Given the description of an element on the screen output the (x, y) to click on. 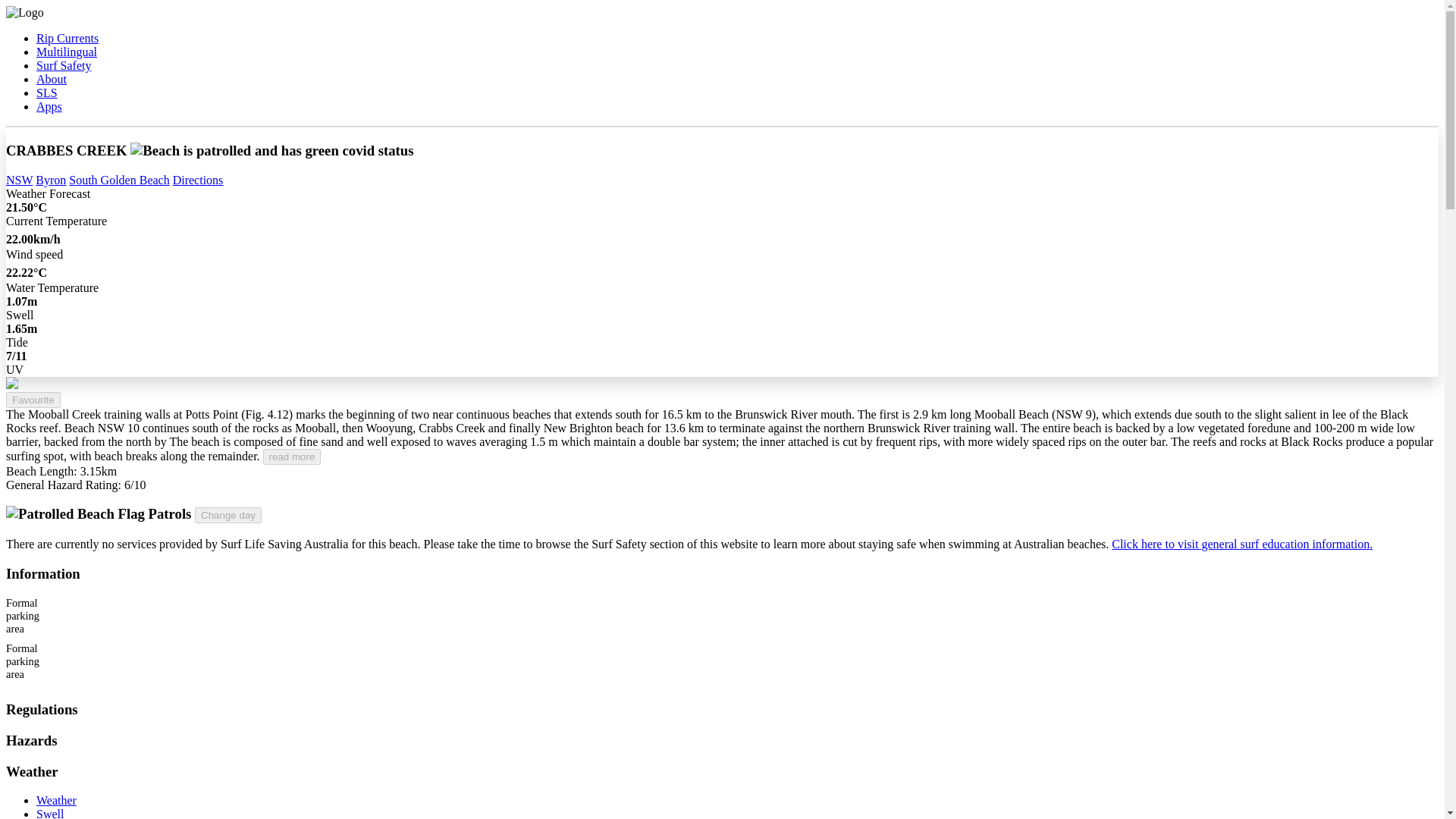
Swell (50, 813)
Click here to visit general surf education information. (1242, 543)
Show me direction to this beach (198, 179)
Rip Currents (67, 38)
Favourite (33, 399)
Byron (49, 179)
About (51, 78)
read more (292, 456)
South Golden Beach (118, 179)
Surf Safety (63, 65)
